Given the description of an element on the screen output the (x, y) to click on. 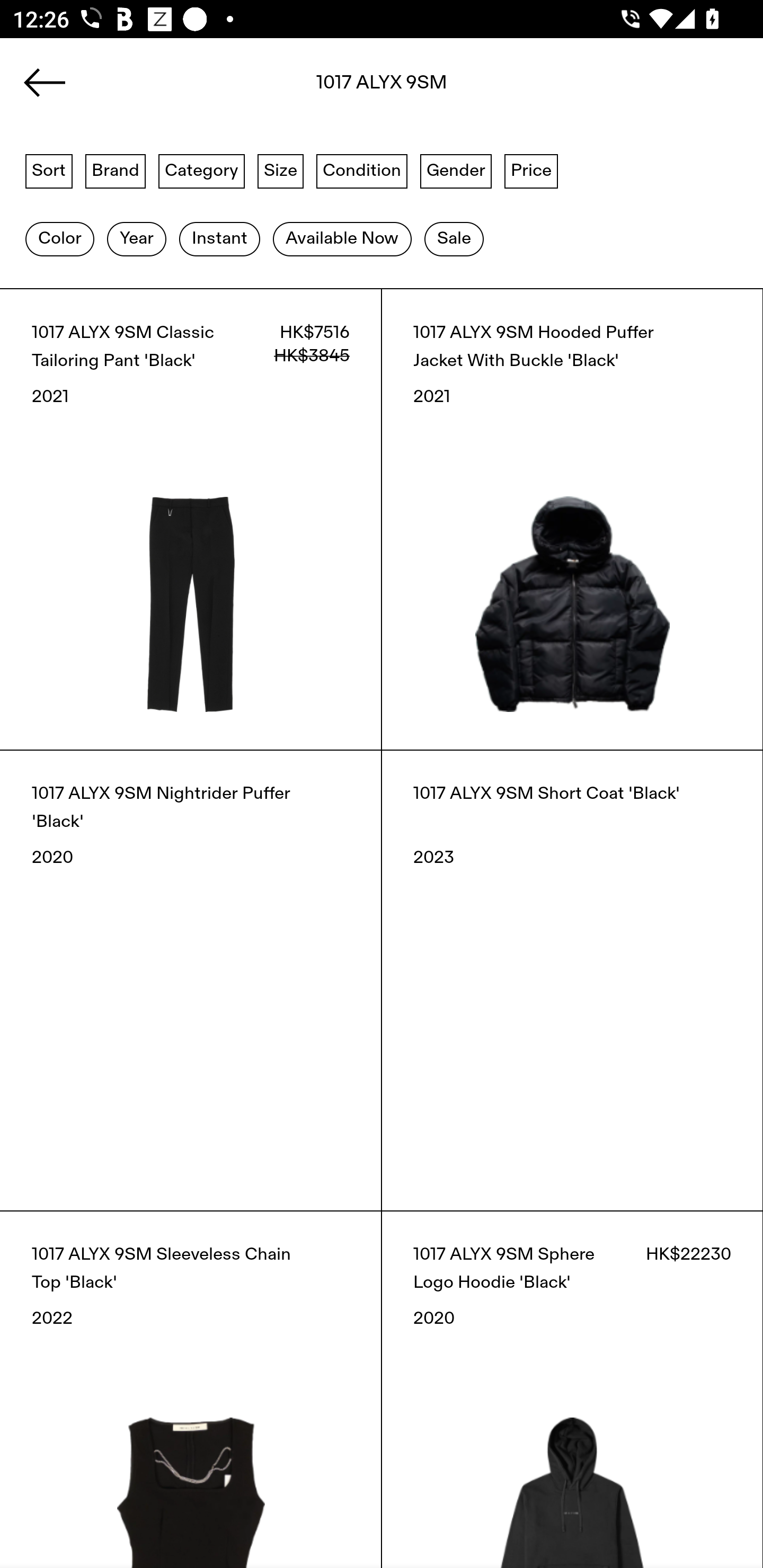
Search (381, 88)
Sort (48, 170)
Brand (115, 170)
Category (201, 170)
Size (280, 170)
Condition (361, 170)
Gender (455, 170)
Price (530, 170)
Color (59, 239)
Year (136, 239)
Instant (219, 239)
Available Now (342, 239)
Sale (453, 239)
1017 ALYX 9SM Nightrider Puffer 'Black' 2020 (190, 979)
1017 ALYX 9SM Short Coat 'Black' 2023 (572, 979)
1017 ALYX 9SM Sleeveless Chain Top 'Black' 2022 (190, 1389)
